Given the description of an element on the screen output the (x, y) to click on. 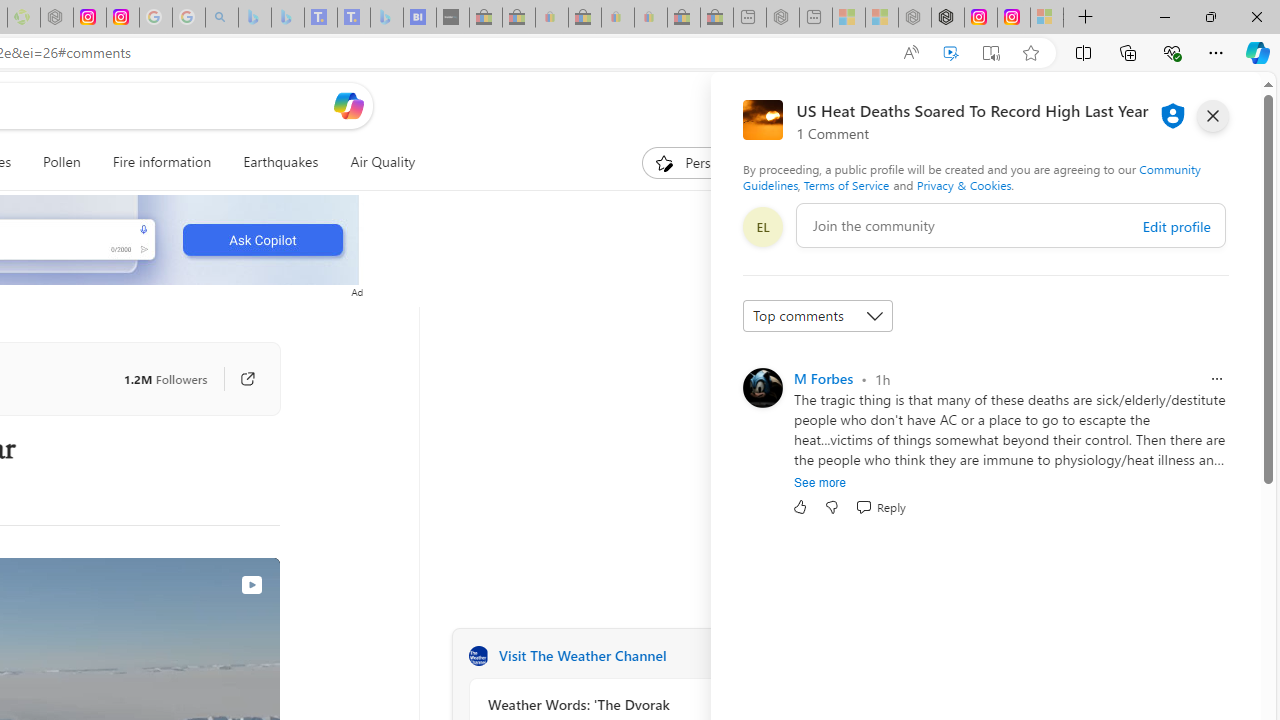
Microsoft Bing Travel - Shangri-La Hotel Bangkok - Sleeping (387, 17)
Yard, Garden & Outdoor Living - Sleeping (717, 17)
Nordace - Summer Adventures 2024 - Sleeping (914, 17)
View on Watch View on Watch (205, 584)
Nordace - Nordace Edin Collection - Sleeping (56, 17)
Nordace - Summer Adventures 2024 (947, 17)
comment-box (1011, 225)
Profile Picture (762, 387)
